Given the description of an element on the screen output the (x, y) to click on. 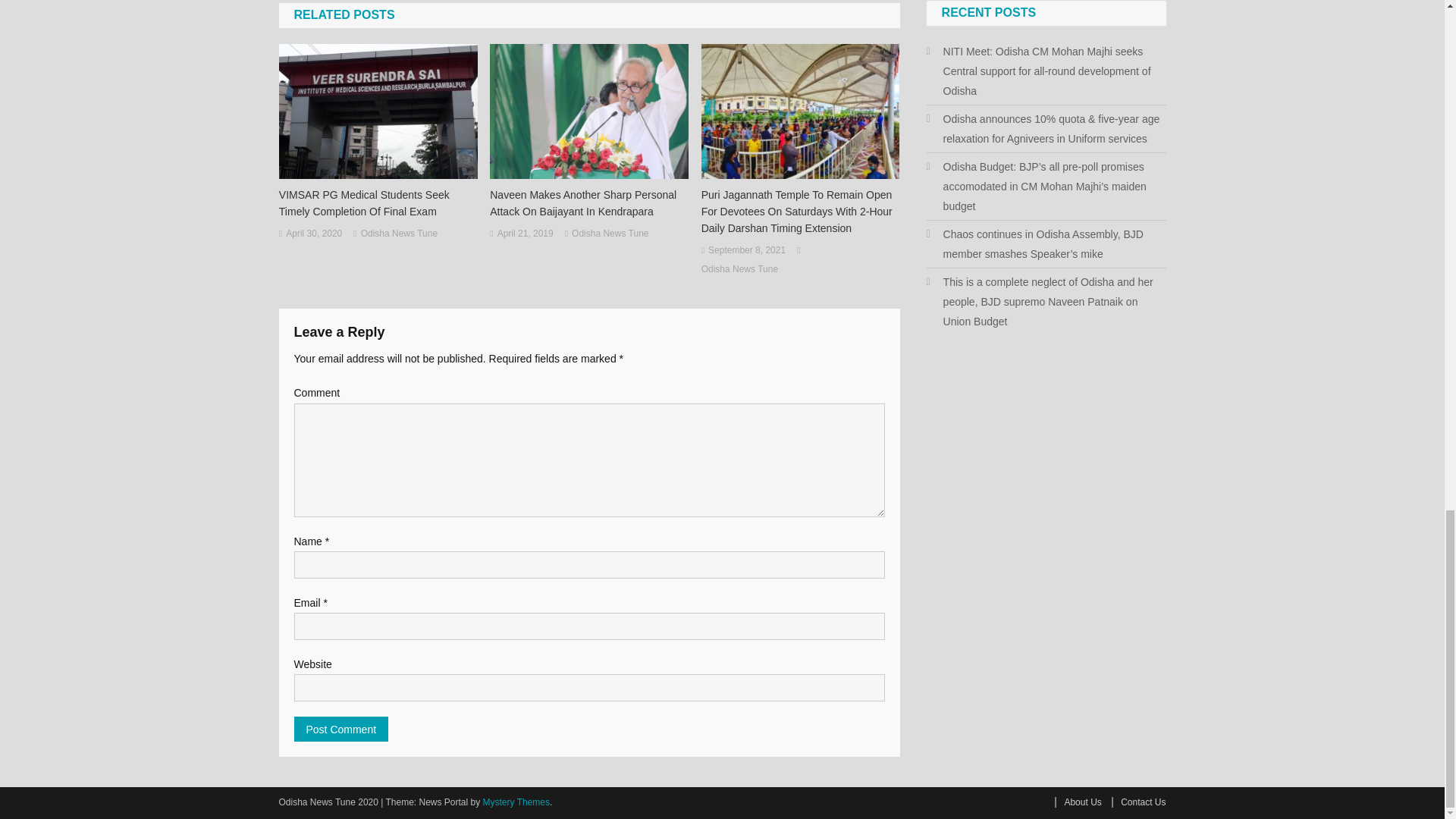
April 21, 2019 (525, 234)
Odisha News Tune (609, 234)
Post Comment (341, 729)
April 30, 2020 (313, 234)
September 8, 2021 (746, 250)
Odisha News Tune (399, 234)
